Given the description of an element on the screen output the (x, y) to click on. 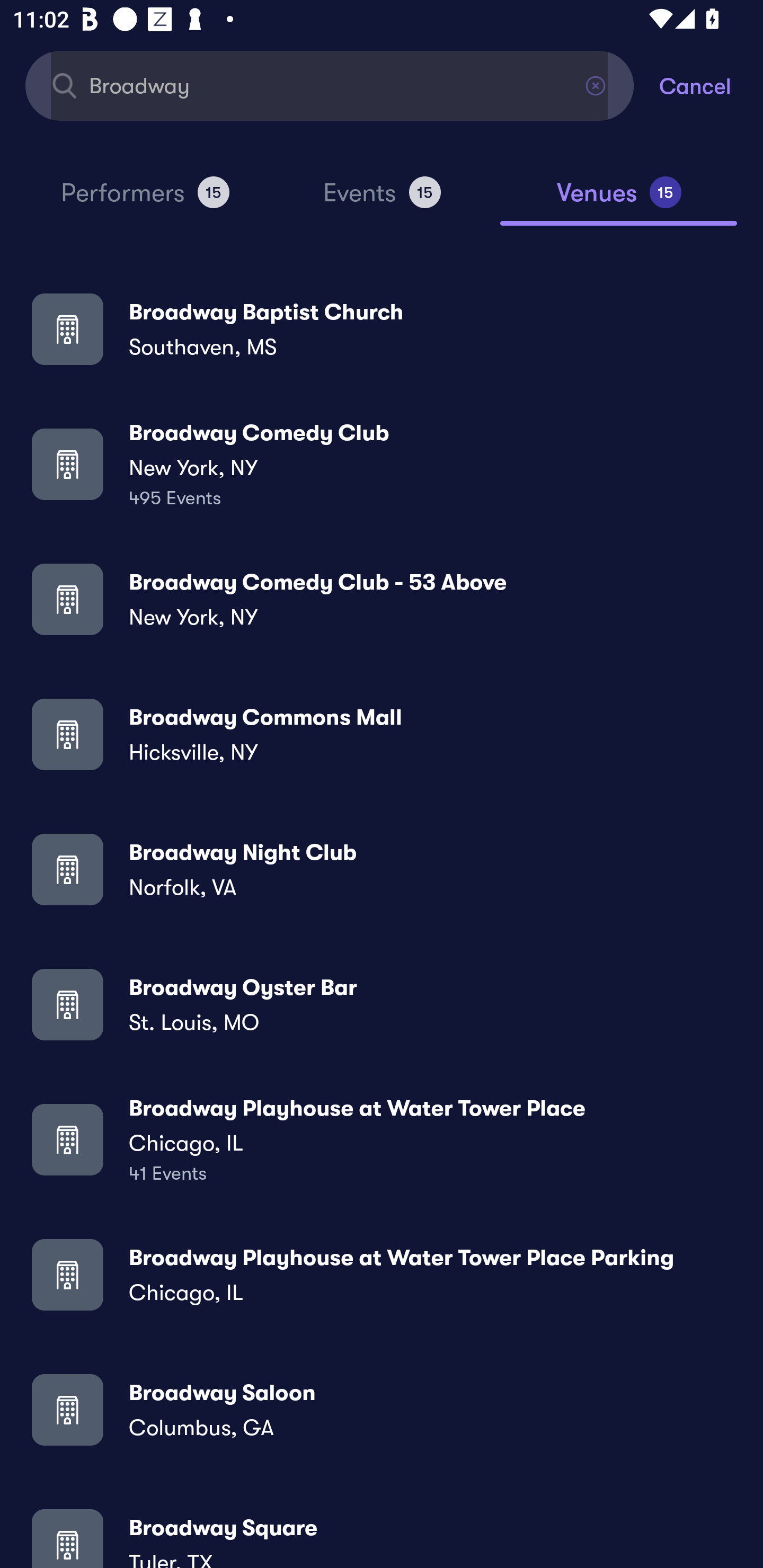
Broadway Find (329, 85)
Broadway Find (329, 85)
Cancel (711, 85)
Performers 15 (144, 200)
Events 15 (381, 200)
Venues 15 (618, 200)
Broadway Baptist Church Southaven, MS (381, 328)
Broadway Comedy Club New York, NY 495 Events (381, 464)
Broadway Comedy Club - 53 Above New York, NY (381, 598)
Broadway Commons Mall Hicksville, NY (381, 734)
Broadway Night Club Norfolk, VA (381, 869)
Broadway Oyster Bar St. Louis, MO (381, 1004)
Broadway Saloon Columbus, GA (381, 1409)
Broadway Square Tyler, TX (381, 1532)
